Given the description of an element on the screen output the (x, y) to click on. 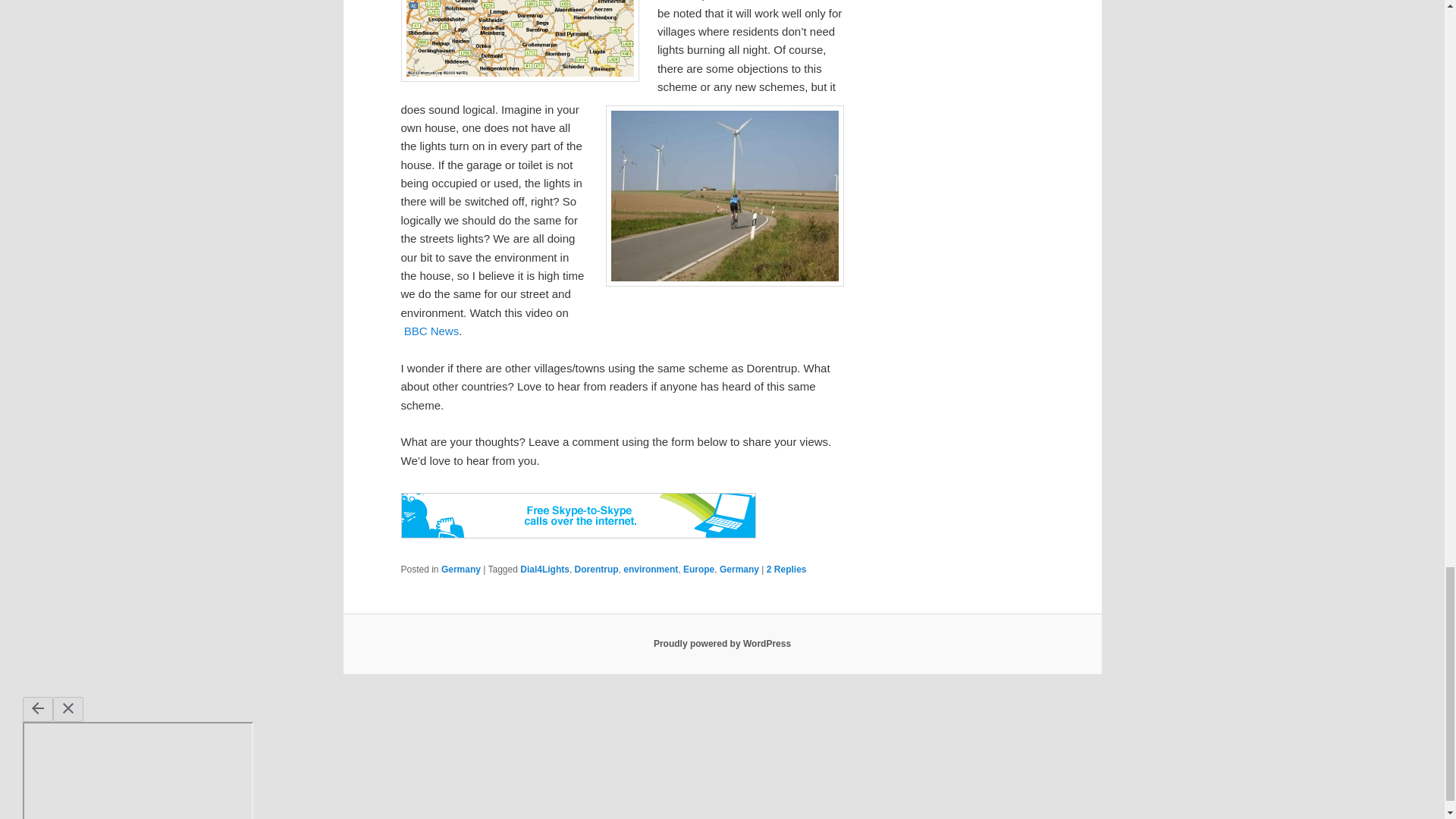
duntrope scenery 3 (724, 195)
Semantic Personal Publishing Platform (721, 643)
2 Replies (786, 569)
Europe (698, 569)
BBC News (432, 330)
Dorentrup (596, 569)
Germany (460, 569)
environment (650, 569)
Germany (738, 569)
Dial4Lights (544, 569)
Duntrope map (519, 40)
